Given the description of an element on the screen output the (x, y) to click on. 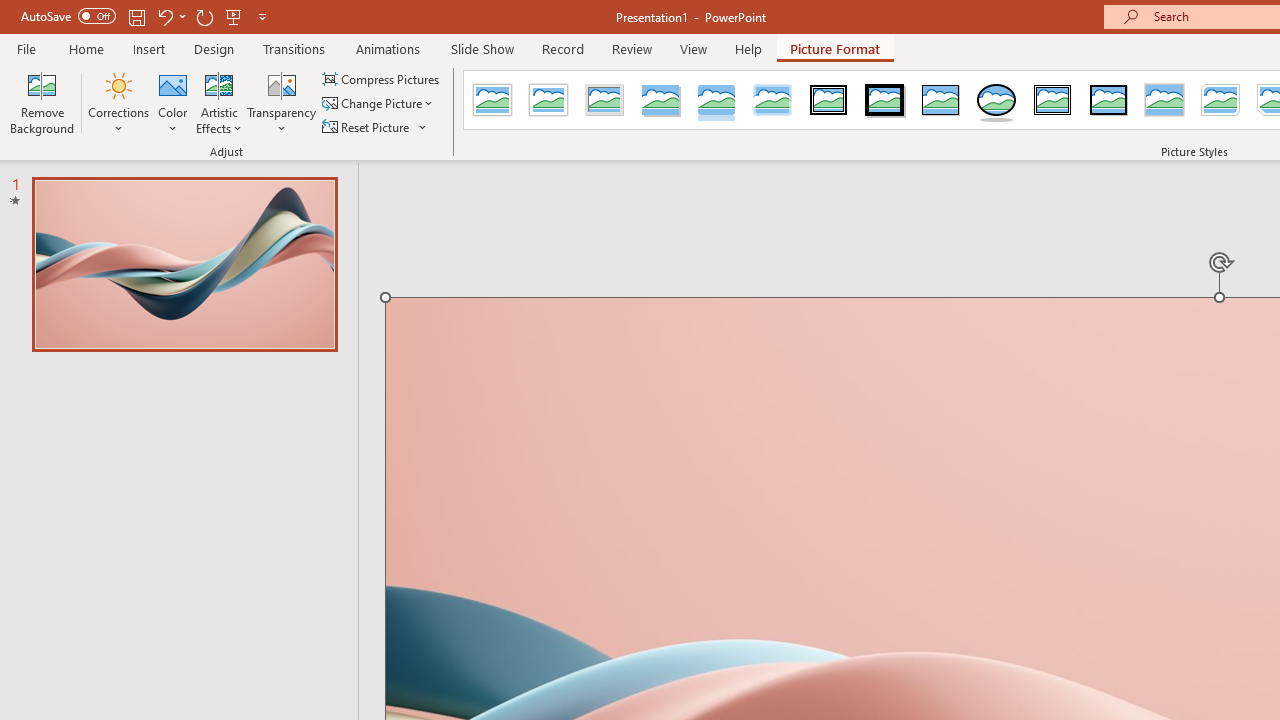
Record (562, 48)
AutoSave (68, 16)
Compress Pictures... (381, 78)
Reflected Rounded Rectangle (716, 100)
From Beginning (234, 15)
Quick Access Toolbar (145, 16)
Slide Show (481, 48)
Beveled Oval, Black (996, 100)
Metal Frame (605, 100)
Help (748, 48)
Home (86, 48)
Animations (388, 48)
Moderate Frame, Black (1108, 100)
Thick Matte, Black (884, 100)
